Given the description of an element on the screen output the (x, y) to click on. 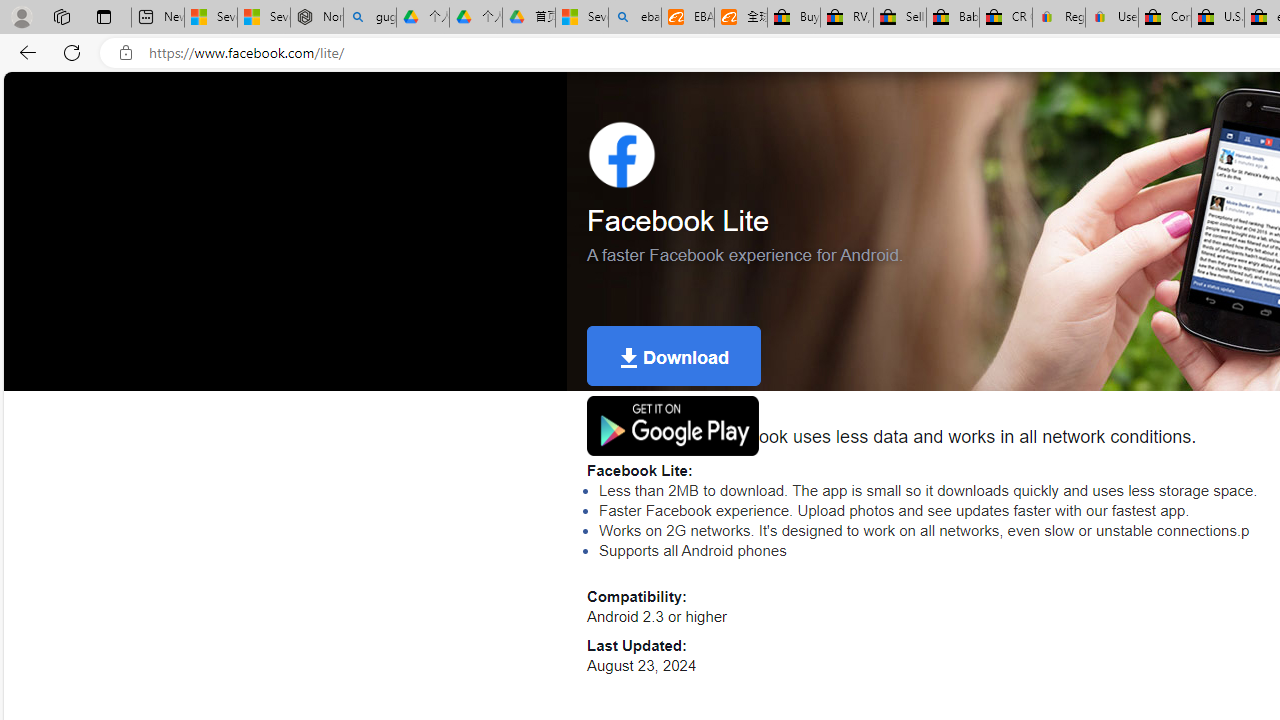
Sell worldwide with eBay (899, 17)
ebay - Search (634, 17)
guge yunpan - Search (369, 17)
Download (674, 356)
New tab (157, 17)
Personal Profile (21, 16)
Refresh (72, 52)
